Given the description of an element on the screen output the (x, y) to click on. 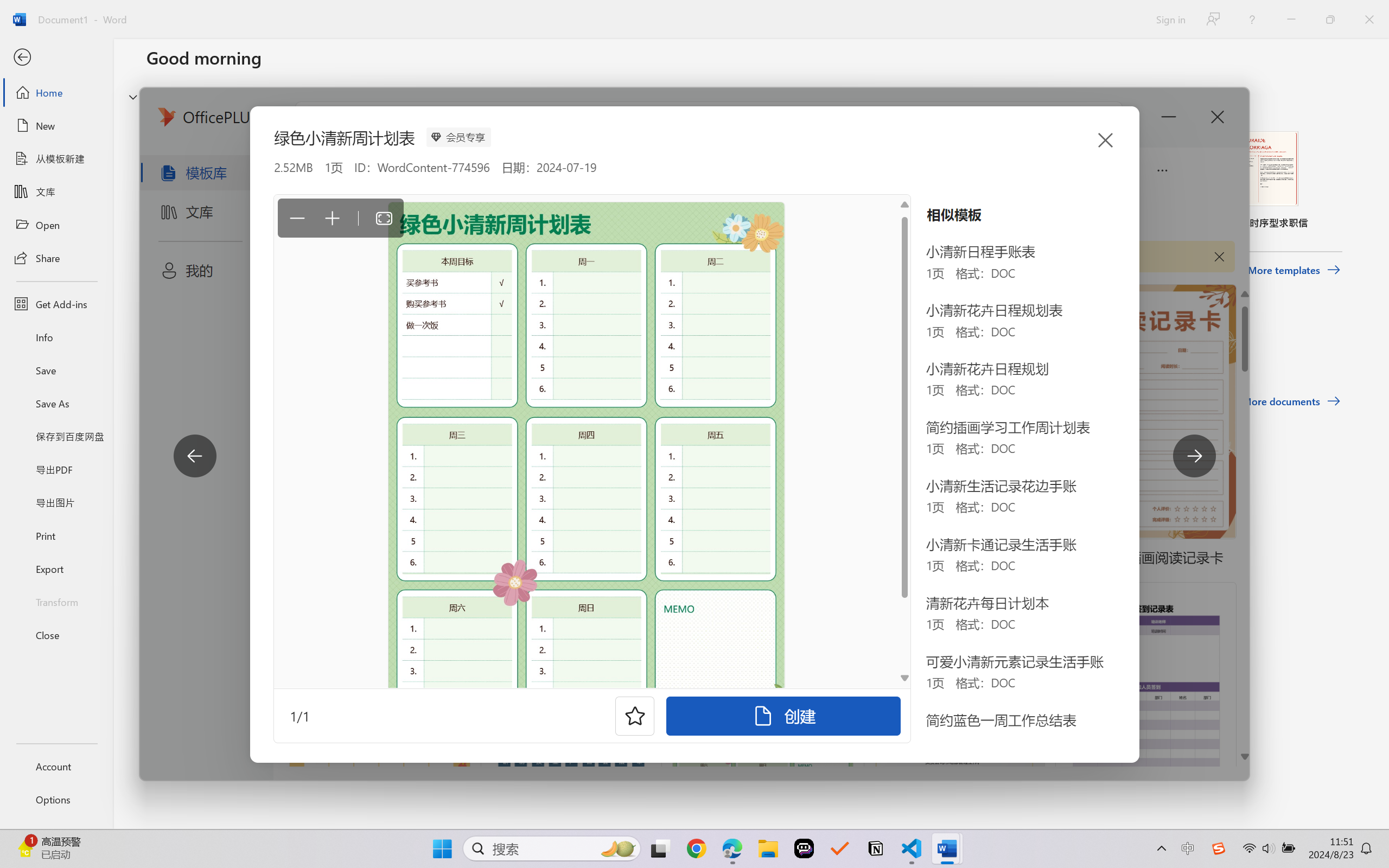
Account (56, 765)
Options (56, 798)
